Given the description of an element on the screen output the (x, y) to click on. 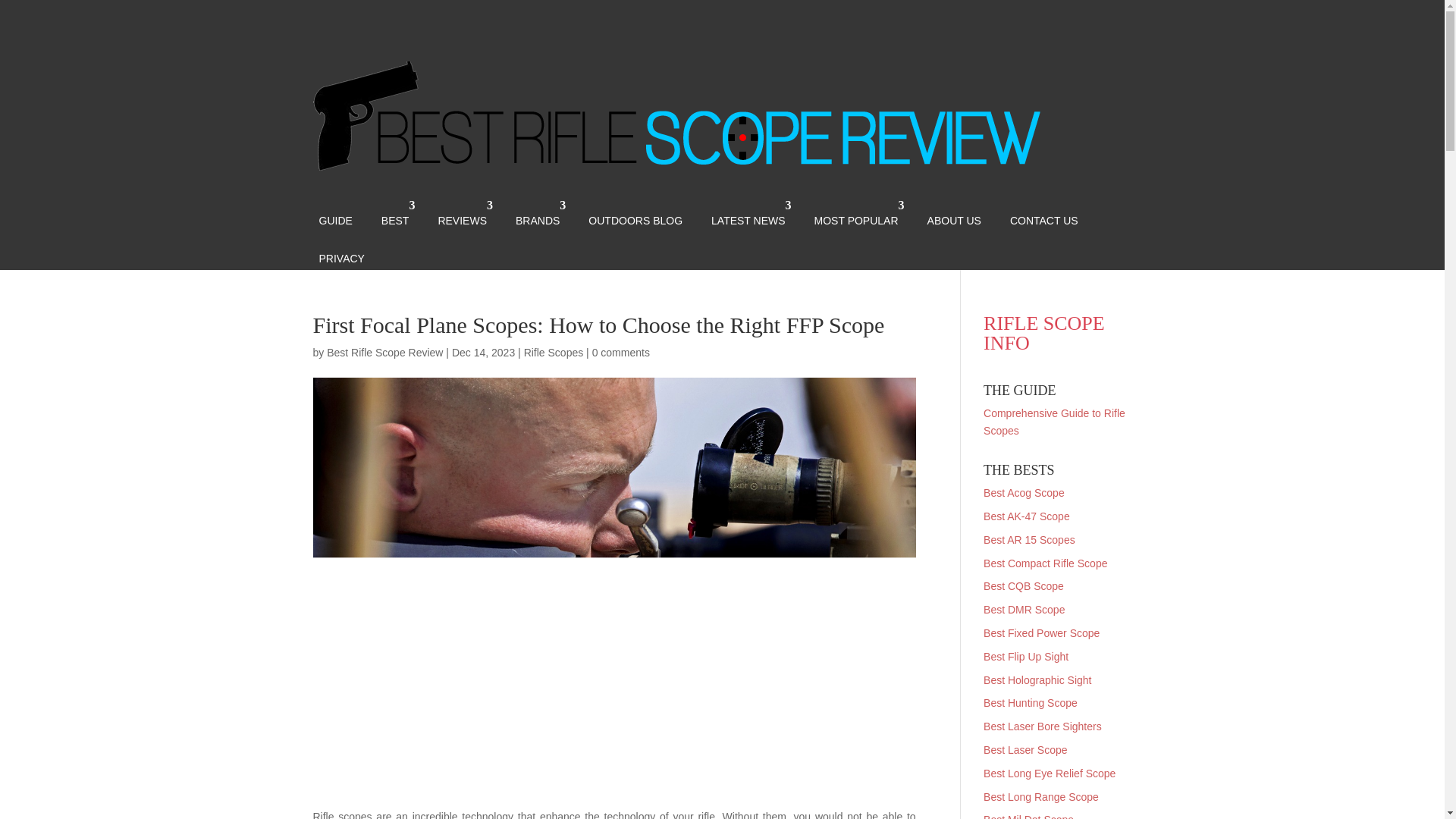
Posts by Best Rifle Scope Review (384, 352)
REVIEWS (461, 215)
cropped-bestriflescoperevoew.png (676, 116)
BRANDS (537, 215)
OUTDOORS BLOG (635, 215)
BEST (394, 215)
GUIDE (335, 215)
LATEST NEWS (748, 215)
